Given the description of an element on the screen output the (x, y) to click on. 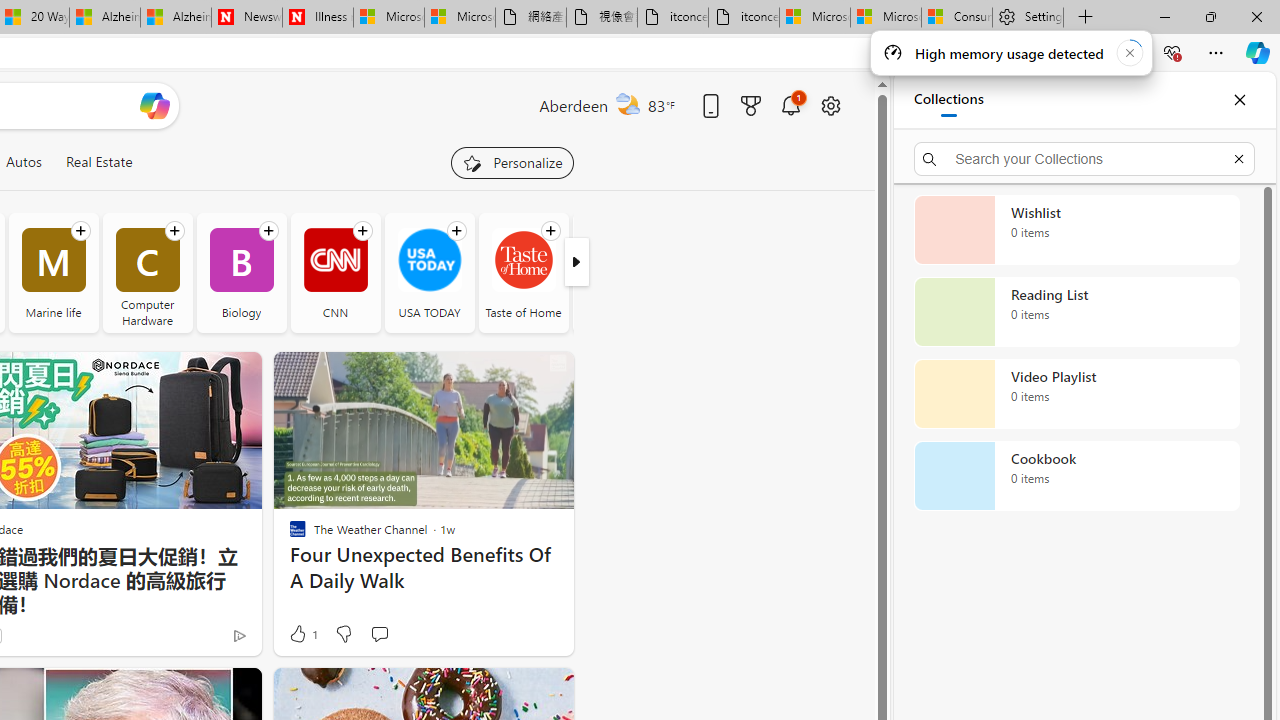
USA TODAY (429, 272)
Marine life (52, 272)
Illness news & latest pictures from Newsweek.com (317, 17)
Personalize your feed" (511, 162)
Cookbook collection, 0 items (1076, 475)
CNN (335, 272)
Reading List collection, 0 items (1076, 312)
